Given the description of an element on the screen output the (x, y) to click on. 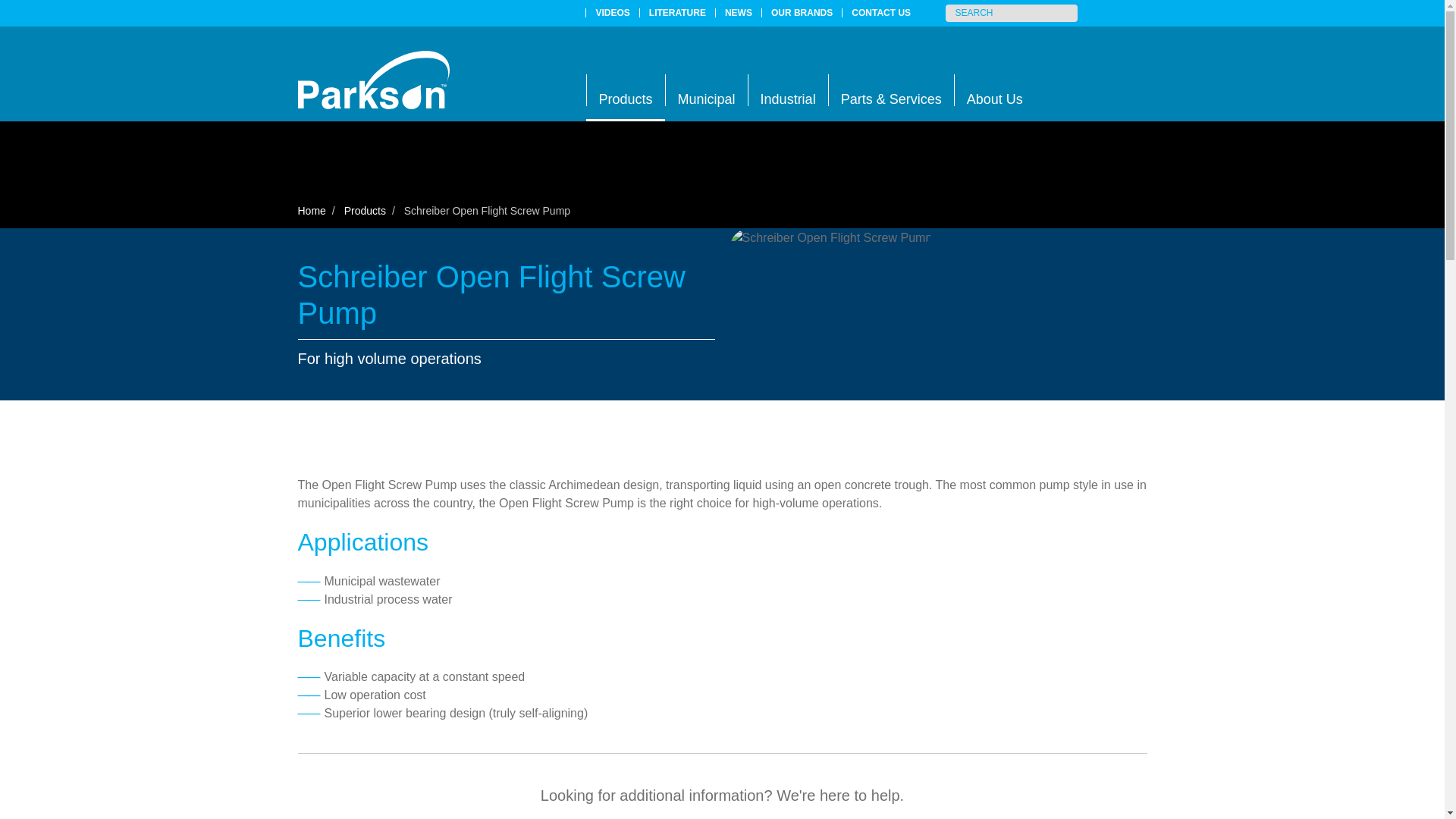
Enter the terms you wish to search for. (1010, 13)
Industrial (788, 90)
About Us (994, 90)
CONTACT US (881, 12)
Search (1068, 13)
LITERATURE (677, 12)
Search (1068, 13)
NEWS (738, 12)
Products (624, 90)
Municipal (706, 90)
OUR BRANDS (801, 12)
VIDEOS (612, 12)
